Given the description of an element on the screen output the (x, y) to click on. 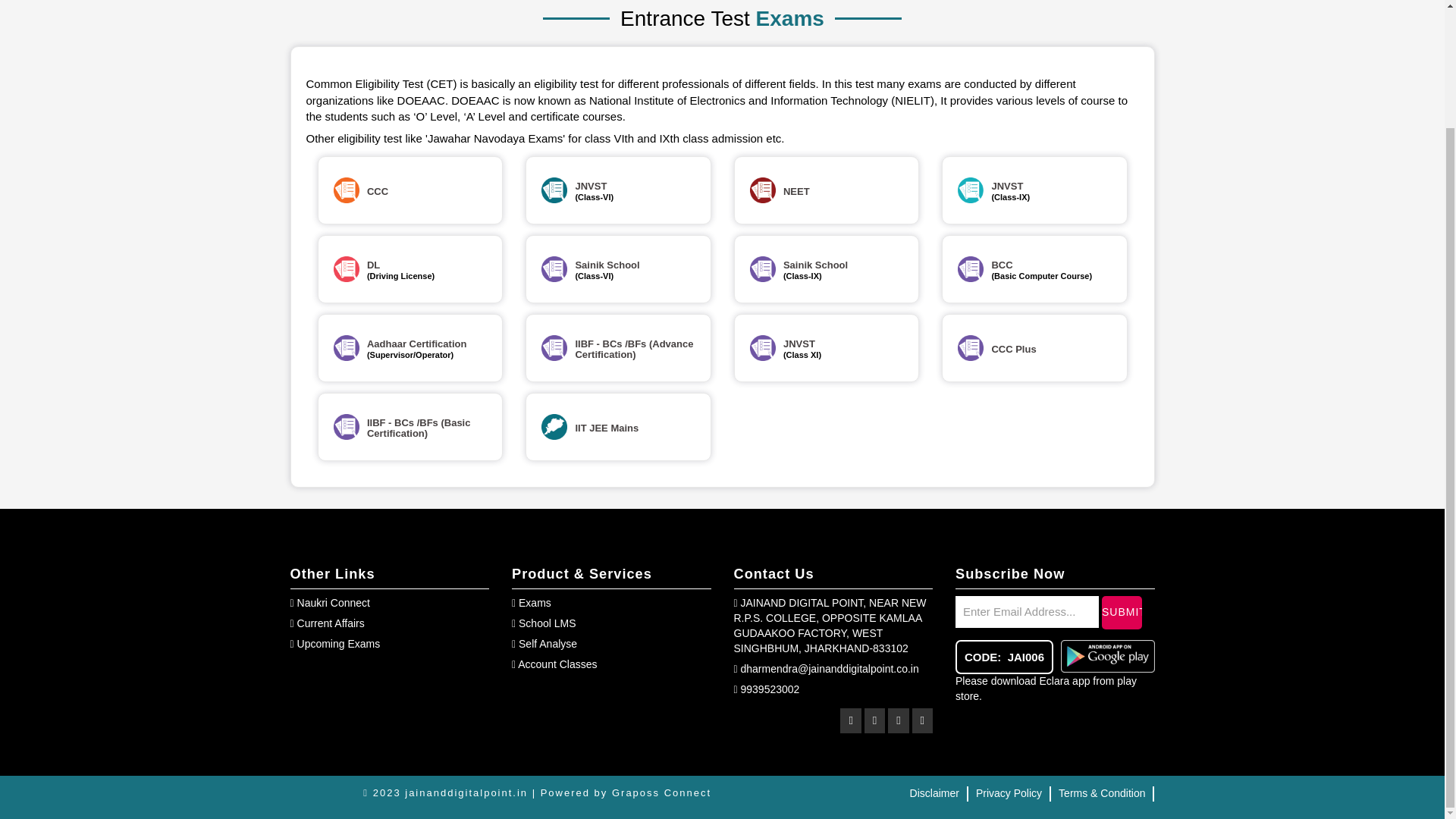
Entrance Test (971, 190)
Entrance Test (554, 347)
Entrance Test (346, 268)
Entrance Test (346, 190)
Entrance Test (346, 426)
Submit (1121, 612)
Entrance Test (554, 268)
Entrance Test (554, 426)
Entrance Test (971, 347)
Entrance Test (554, 190)
